Given the description of an element on the screen output the (x, y) to click on. 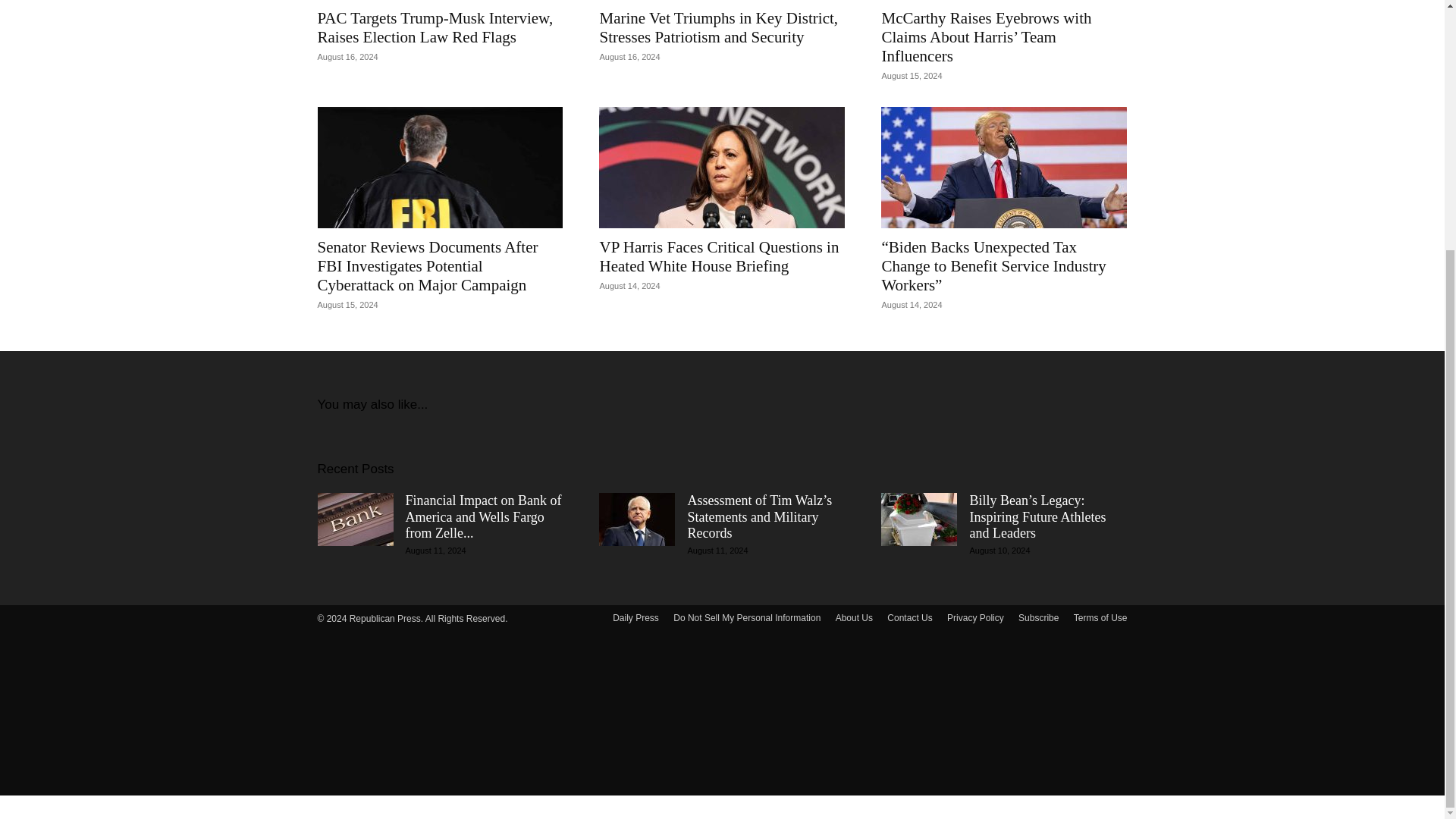
About Us (853, 617)
Contact Us (908, 617)
Privacy Policy (975, 617)
Daily Press (635, 617)
